Given the description of an element on the screen output the (x, y) to click on. 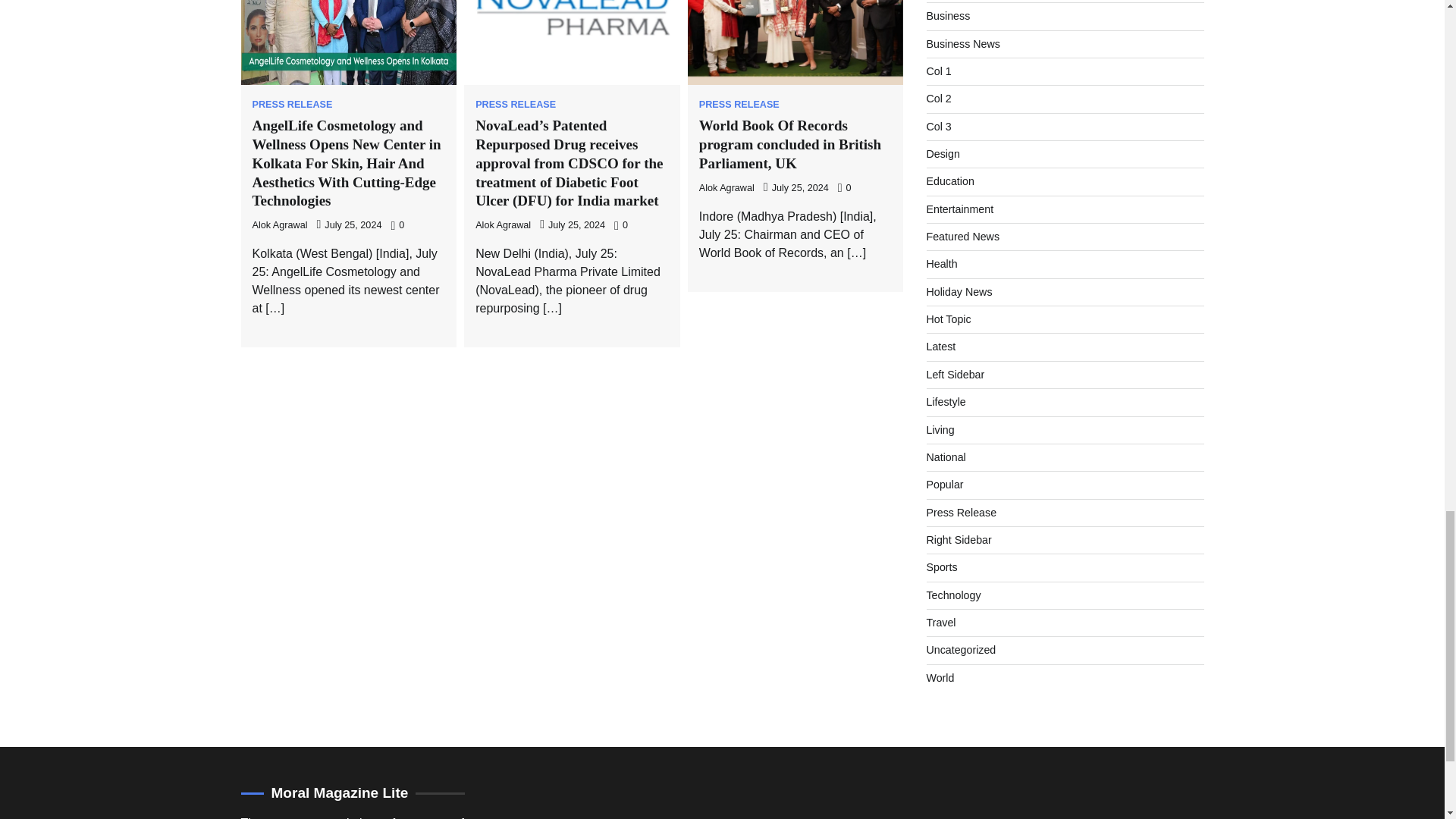
Alok Agrawal (726, 187)
Alok Agrawal (279, 225)
PRESS RELEASE (291, 104)
PRESS RELEASE (738, 104)
Alok Agrawal (503, 225)
PRESS RELEASE (516, 104)
